Given the description of an element on the screen output the (x, y) to click on. 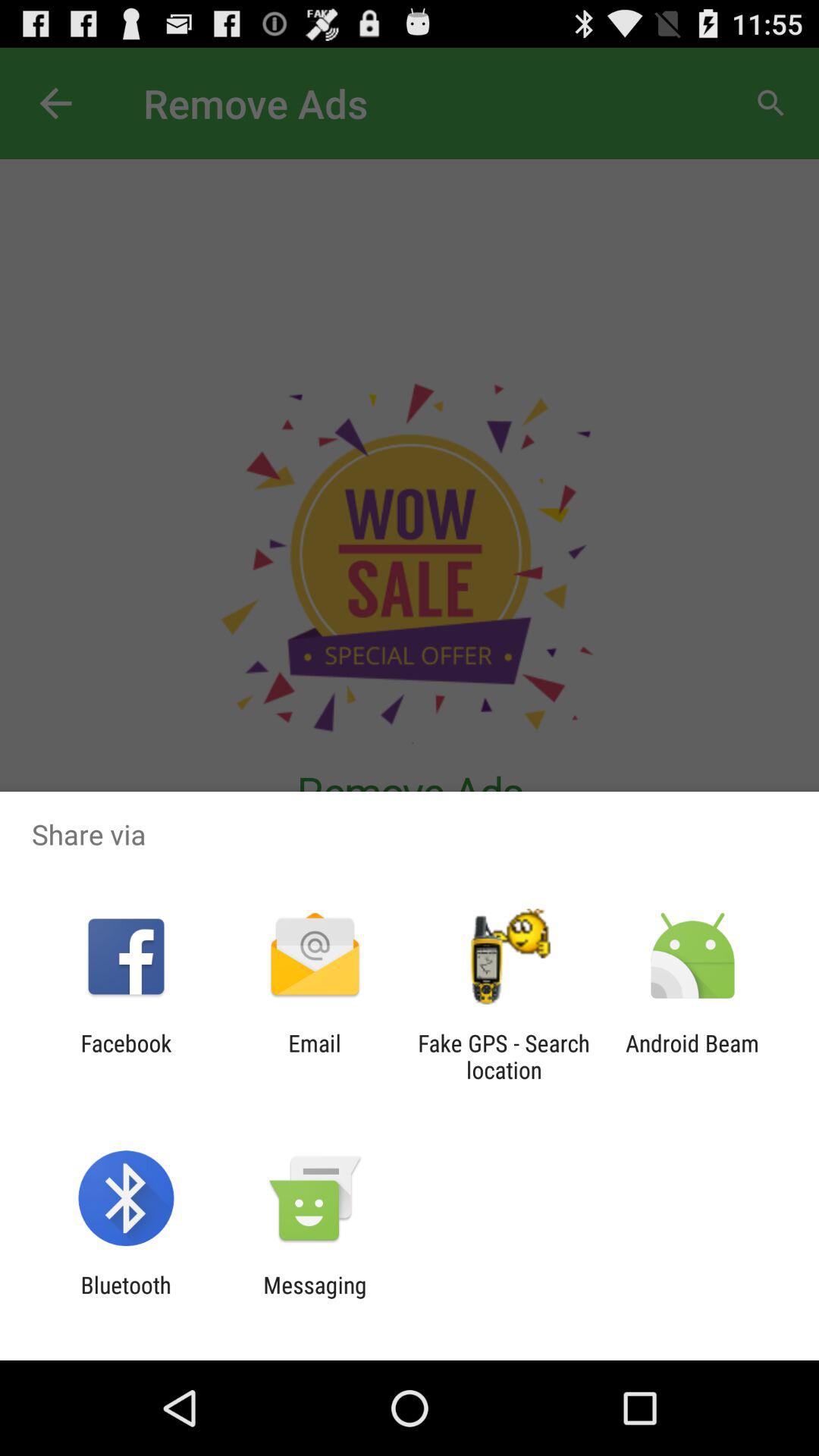
click icon next to the email (503, 1056)
